Given the description of an element on the screen output the (x, y) to click on. 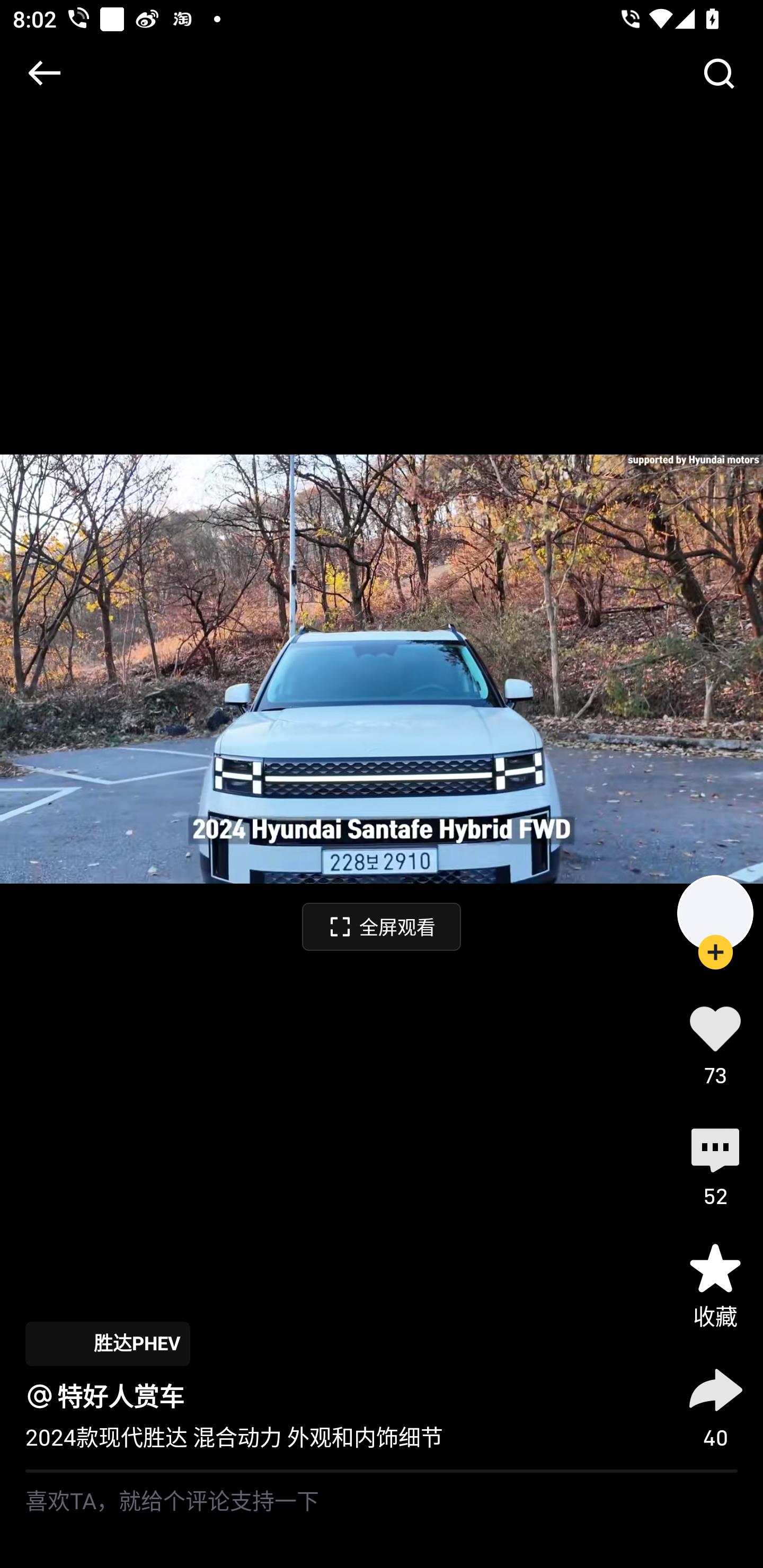
 (44, 72)
 (718, 72)
 全屏观看 (381, 926)
52 (715, 1164)
收藏 (715, 1284)
胜达PHEV (107, 1343)
40 (715, 1405)
特好人赏车 (120, 1396)
2024款现代胜达 混合动力 外观和内饰细节 (234, 1437)
喜欢TA，就给个评论支持一下 (381, 1520)
